Given the description of an element on the screen output the (x, y) to click on. 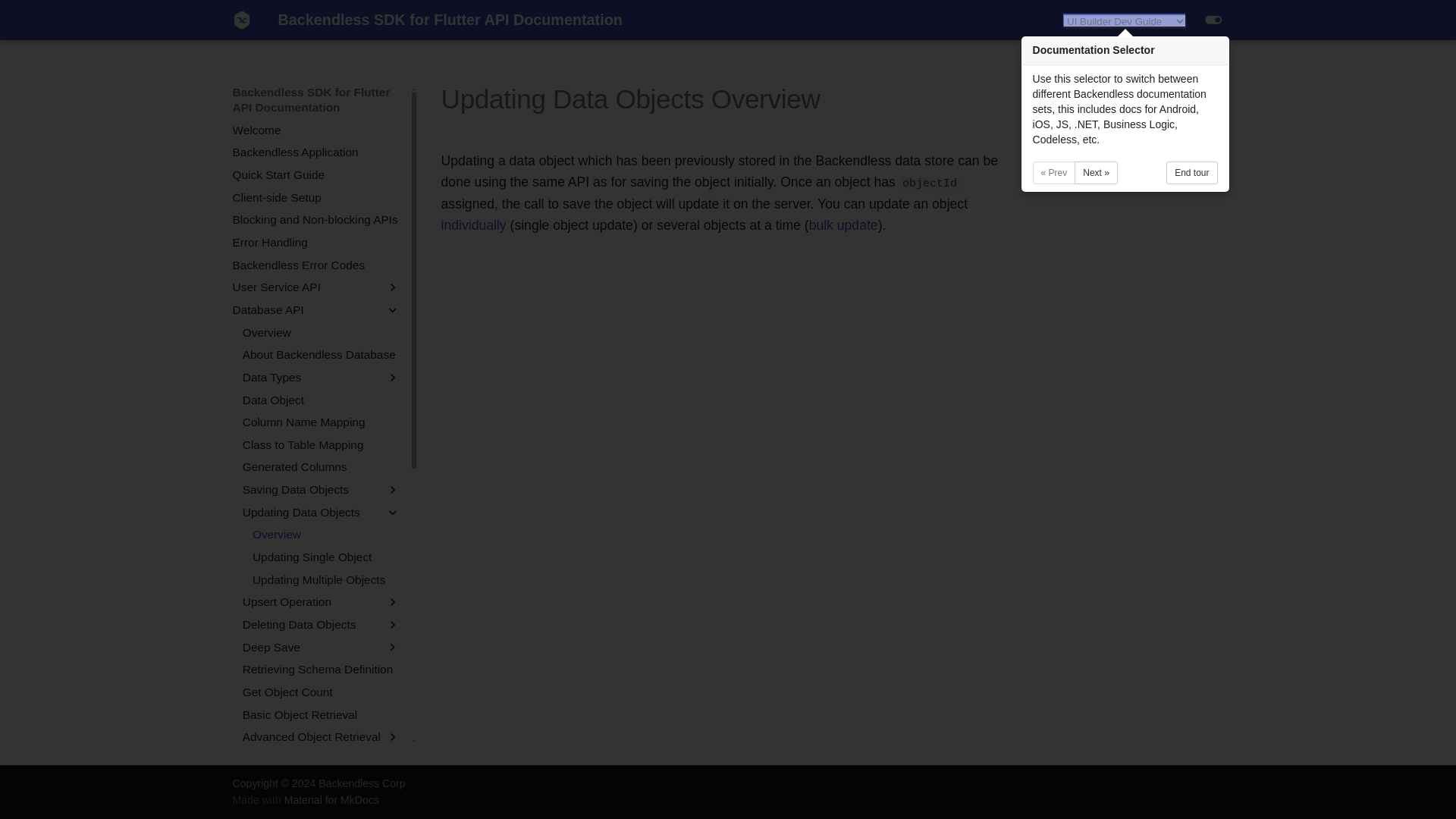
Quick Start Guide (316, 174)
Blocking and Non-blocking APIs (316, 219)
Welcome (316, 130)
Backendless Application (316, 151)
Error Handling (316, 242)
Backendless Error Codes (316, 264)
Switch to dark mode (1213, 19)
Backendless SDK for Flutter API Documentation (241, 19)
Client-side Setup (316, 197)
